Given the description of an element on the screen output the (x, y) to click on. 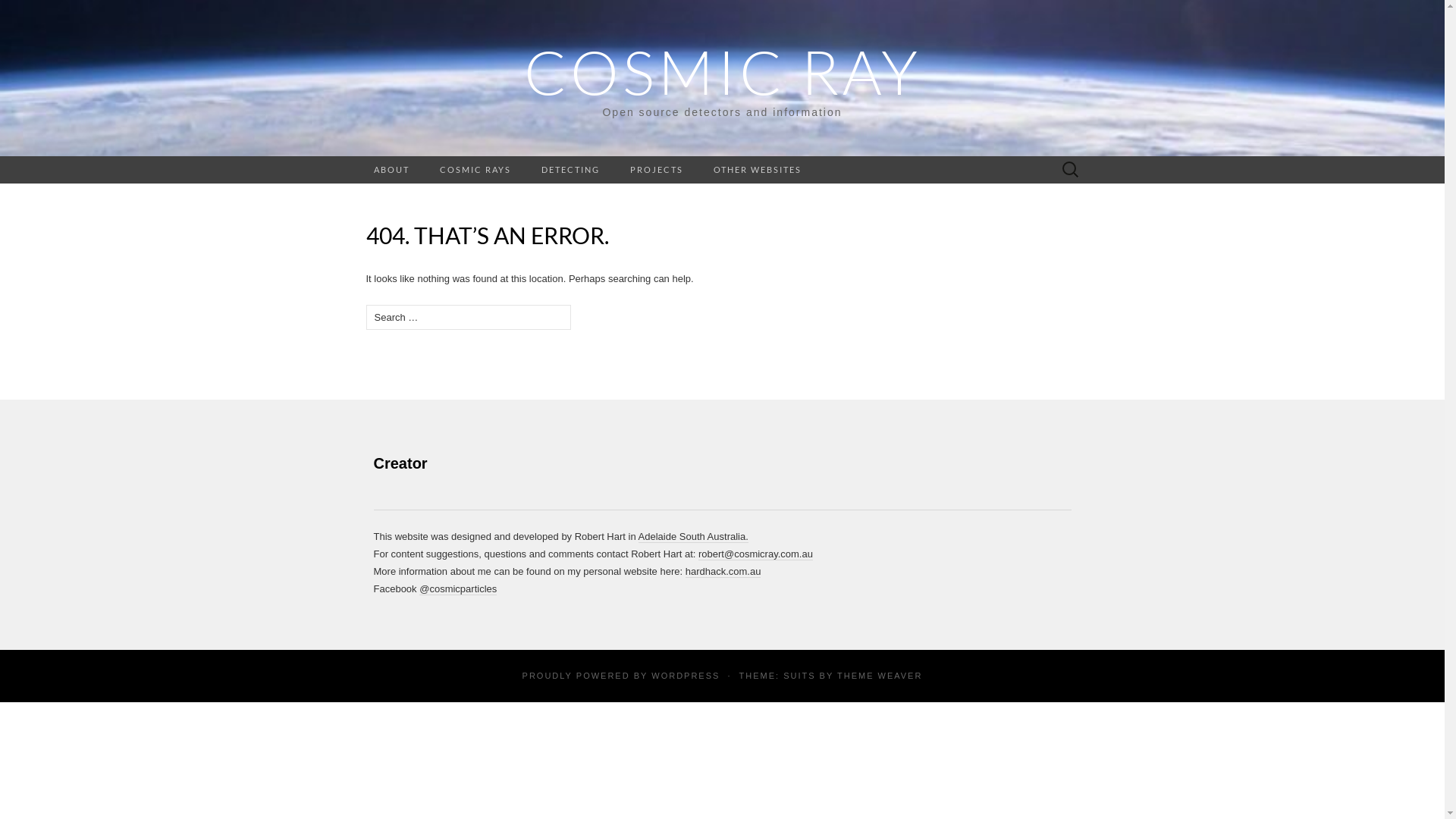
hardhack.com.au Element type: text (723, 571)
THEME WEAVER Element type: text (879, 675)
OTHER WEBSITES Element type: text (756, 169)
ABOUT Element type: text (390, 169)
Adelaide South Australia. Element type: text (693, 536)
Search Element type: text (39, 12)
Search Element type: text (15, 12)
COSMIC RAYS Element type: text (475, 169)
@cosmicparticles Element type: text (457, 589)
PROJECTS Element type: text (655, 169)
DETECTING Element type: text (570, 169)
WORDPRESS Element type: text (685, 675)
robert@cosmicray.com.au Element type: text (755, 554)
COSMIC RAY Element type: text (721, 71)
